Given the description of an element on the screen output the (x, y) to click on. 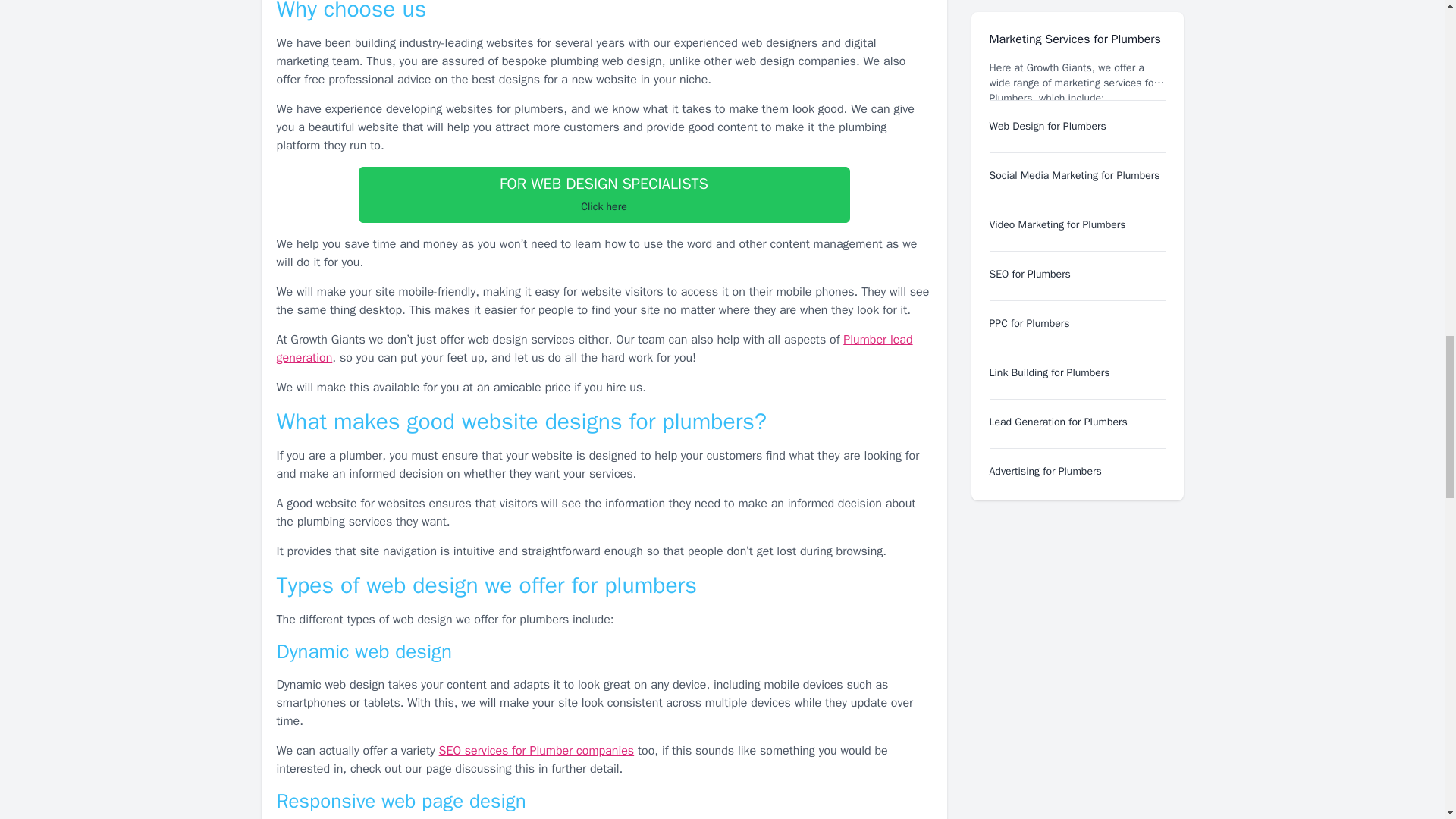
SEO services for Plumber companies (603, 194)
Plumber lead generation (536, 750)
